Given the description of an element on the screen output the (x, y) to click on. 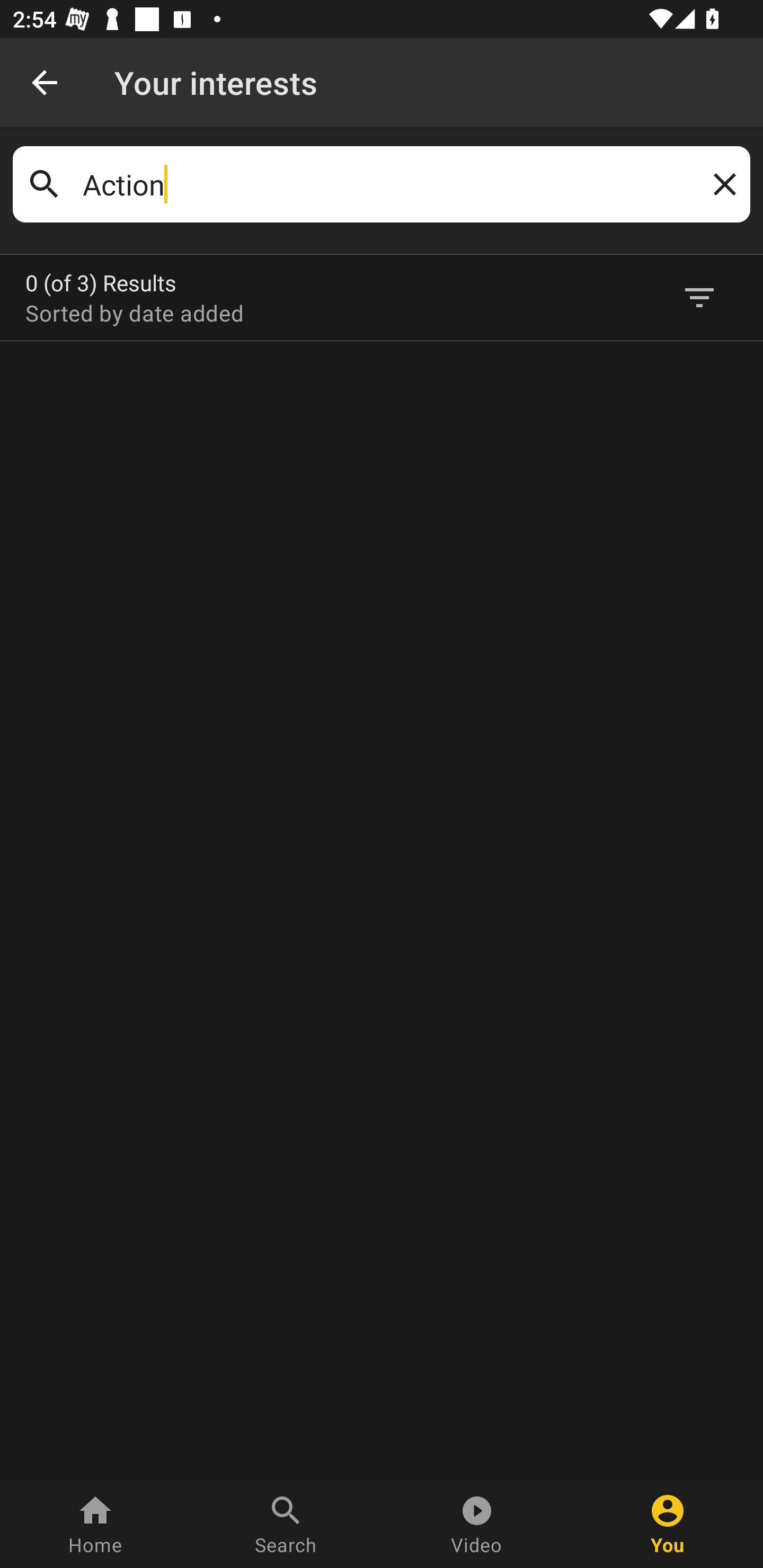
Clear query (721, 183)
Action (381, 184)
Home (95, 1523)
Search (285, 1523)
Video (476, 1523)
